Given the description of an element on the screen output the (x, y) to click on. 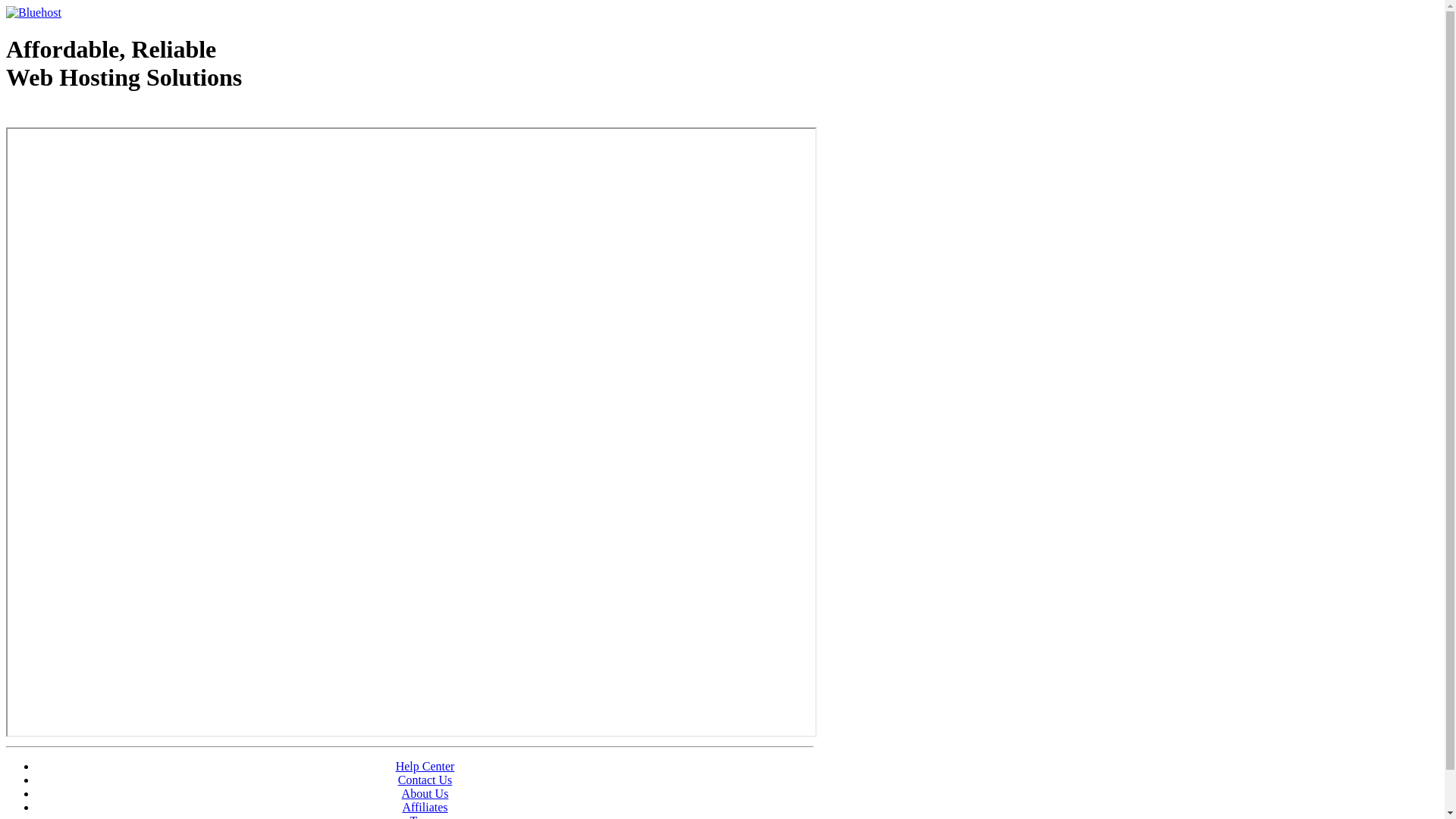
Contact Us Element type: text (425, 779)
About Us Element type: text (424, 793)
Affiliates Element type: text (424, 806)
Help Center Element type: text (425, 765)
Web Hosting - courtesy of www.bluehost.com Element type: text (94, 115)
